Given the description of an element on the screen output the (x, y) to click on. 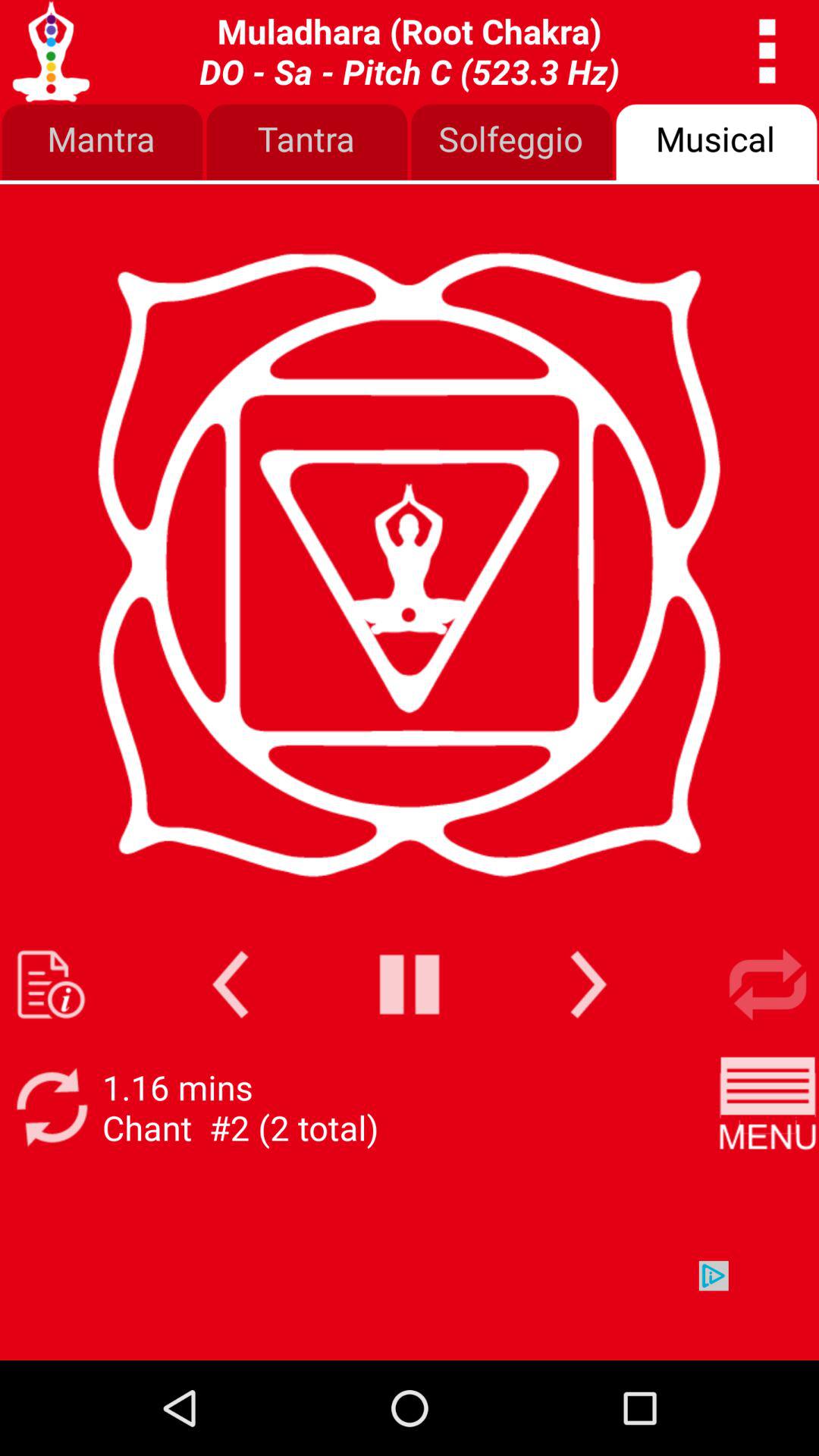
go to menu (767, 1107)
